Given the description of an element on the screen output the (x, y) to click on. 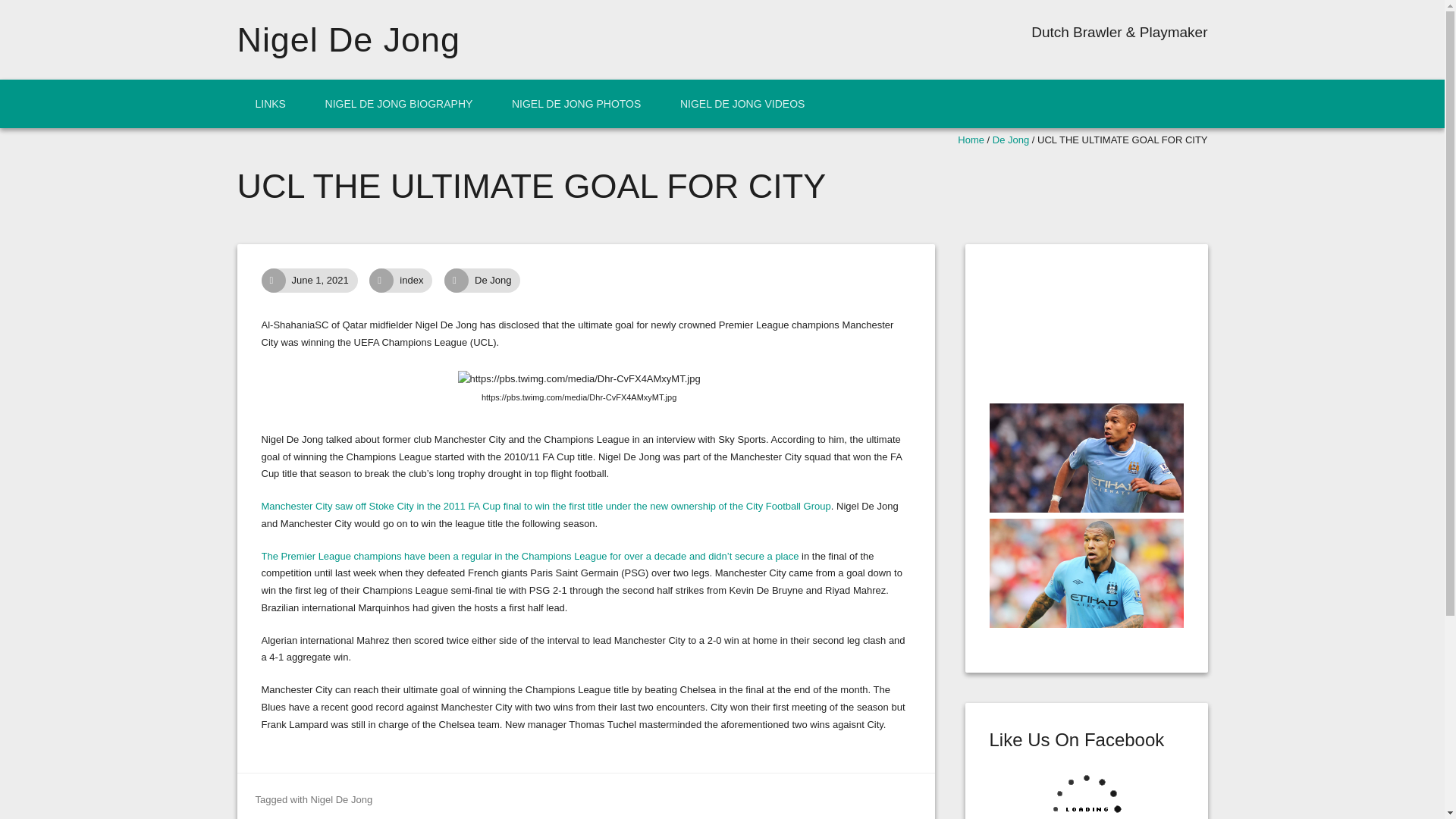
NIGEL DE JONG BIOGRAPHY (399, 103)
De Jong (1010, 139)
June 1, 2021 (328, 280)
NIGEL DE JONG PHOTOS (576, 103)
UCL THE ULTIMATE GOAL FOR CITY (328, 280)
NIGEL DE JONG VIDEOS (742, 103)
De Jong (501, 280)
Home (971, 139)
index (420, 280)
LINKS (268, 103)
